Given the description of an element on the screen output the (x, y) to click on. 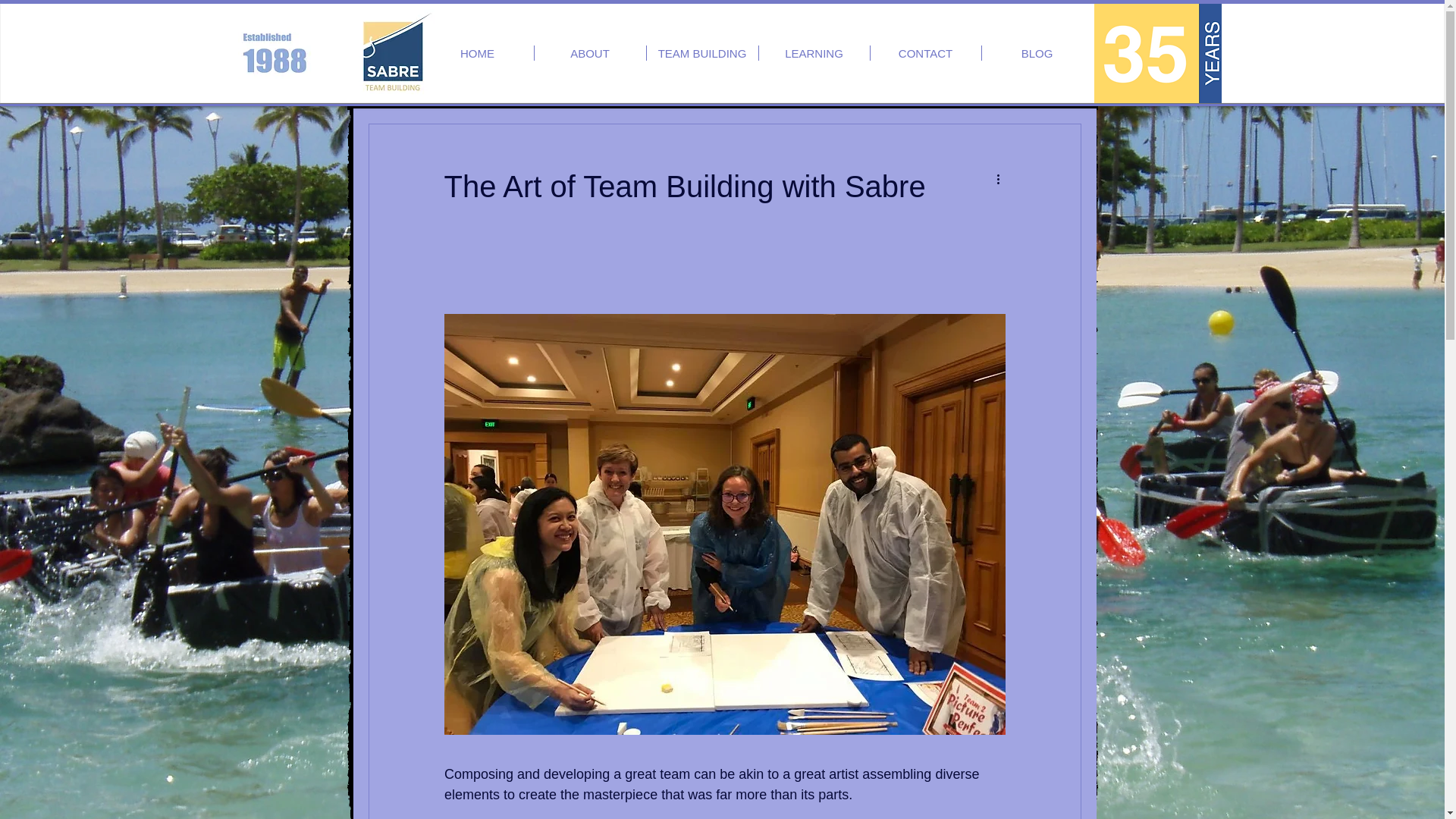
CONTACT (925, 52)
ABOUT (589, 52)
HOME (478, 52)
LEARNING (813, 52)
Team Building Australia since 1988 (1157, 53)
Team Building by Sabre Corporate Developmen (391, 52)
TEAM BUILDING (701, 52)
BLOG (1036, 52)
